Given the description of an element on the screen output the (x, y) to click on. 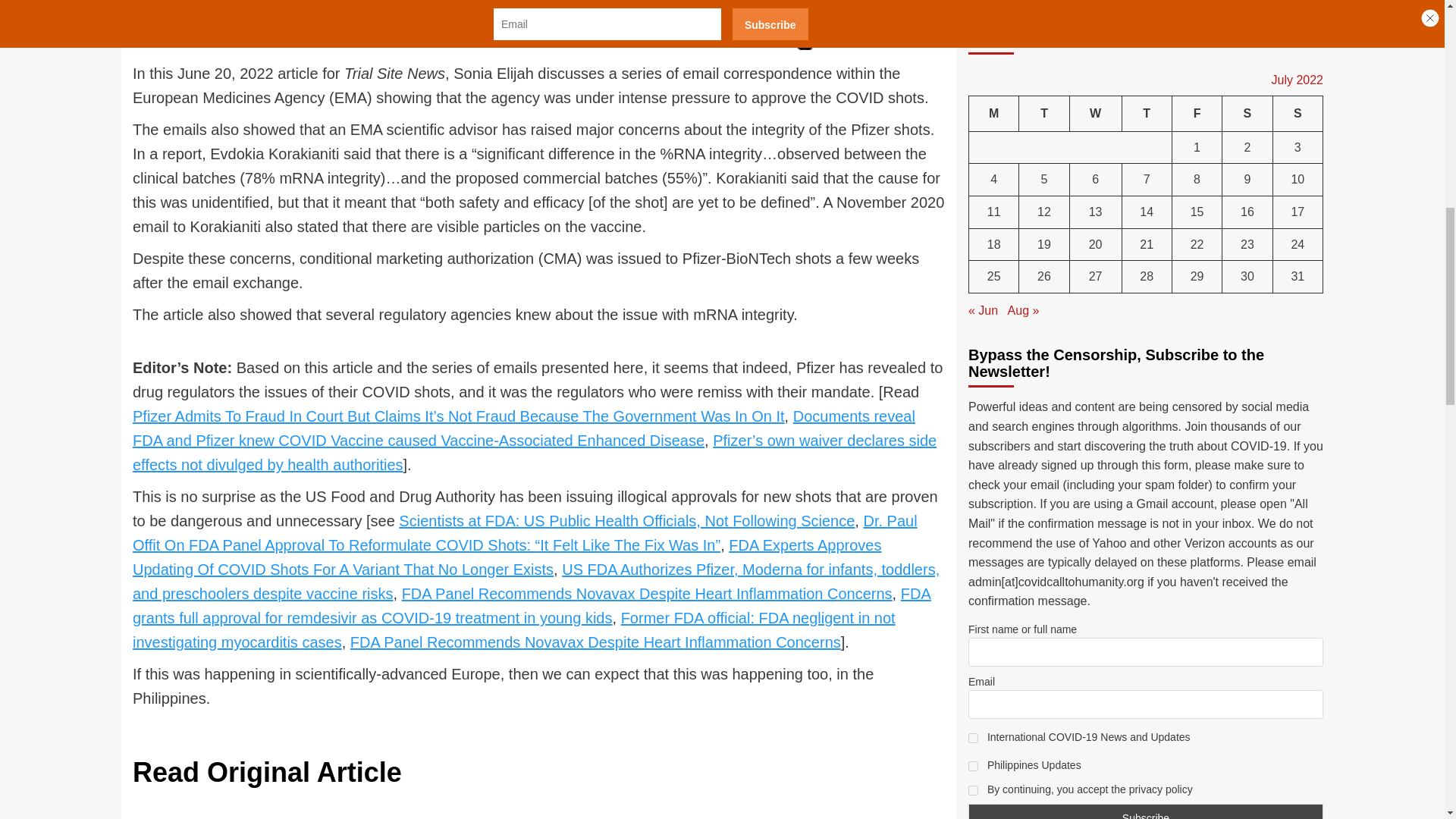
1 (973, 125)
on (973, 177)
Subscribe (1145, 205)
4 (973, 153)
